Given the description of an element on the screen output the (x, y) to click on. 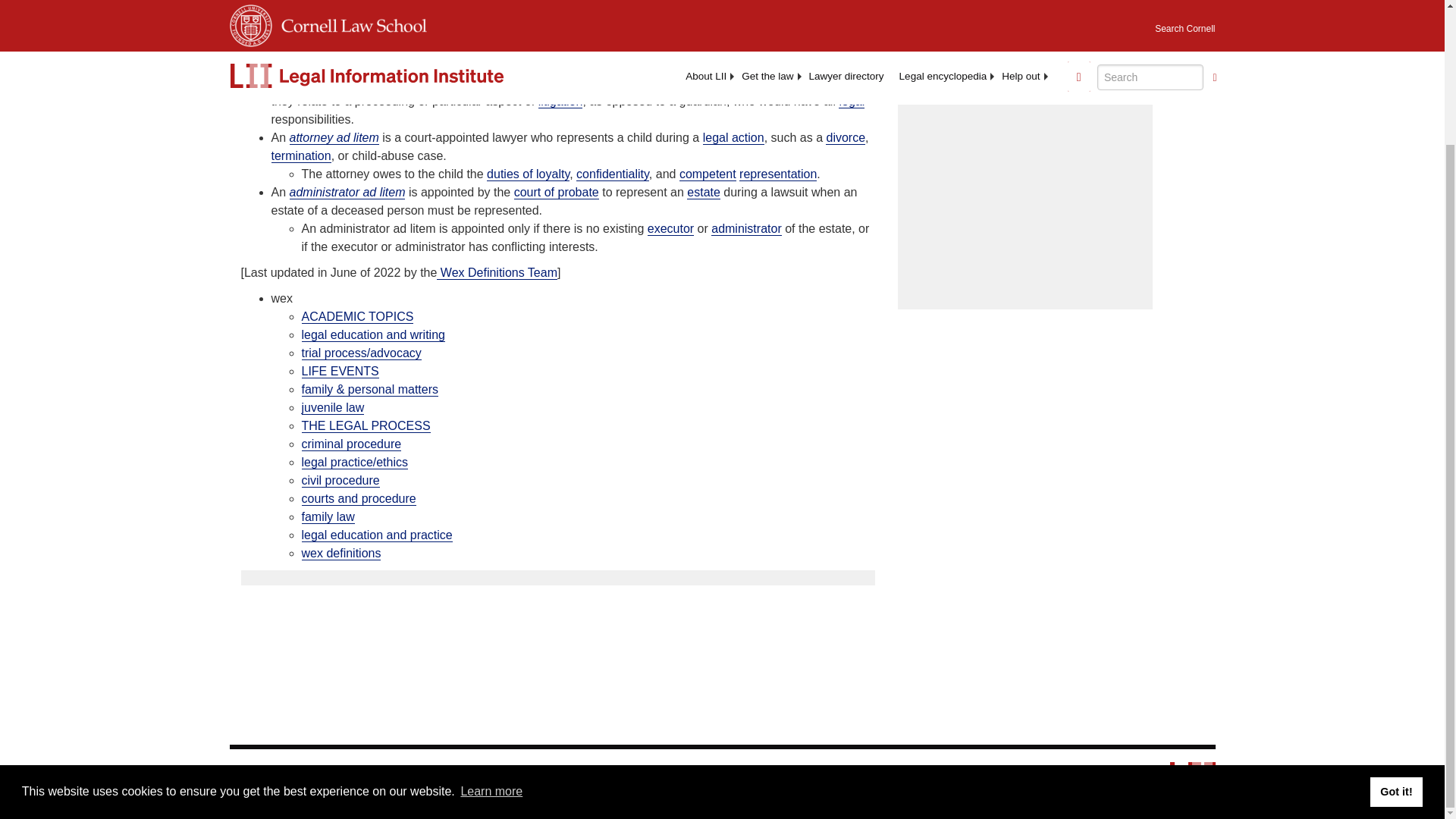
Got it! (1396, 625)
3rd party ad content (1025, 203)
Learn more (491, 626)
